Given the description of an element on the screen output the (x, y) to click on. 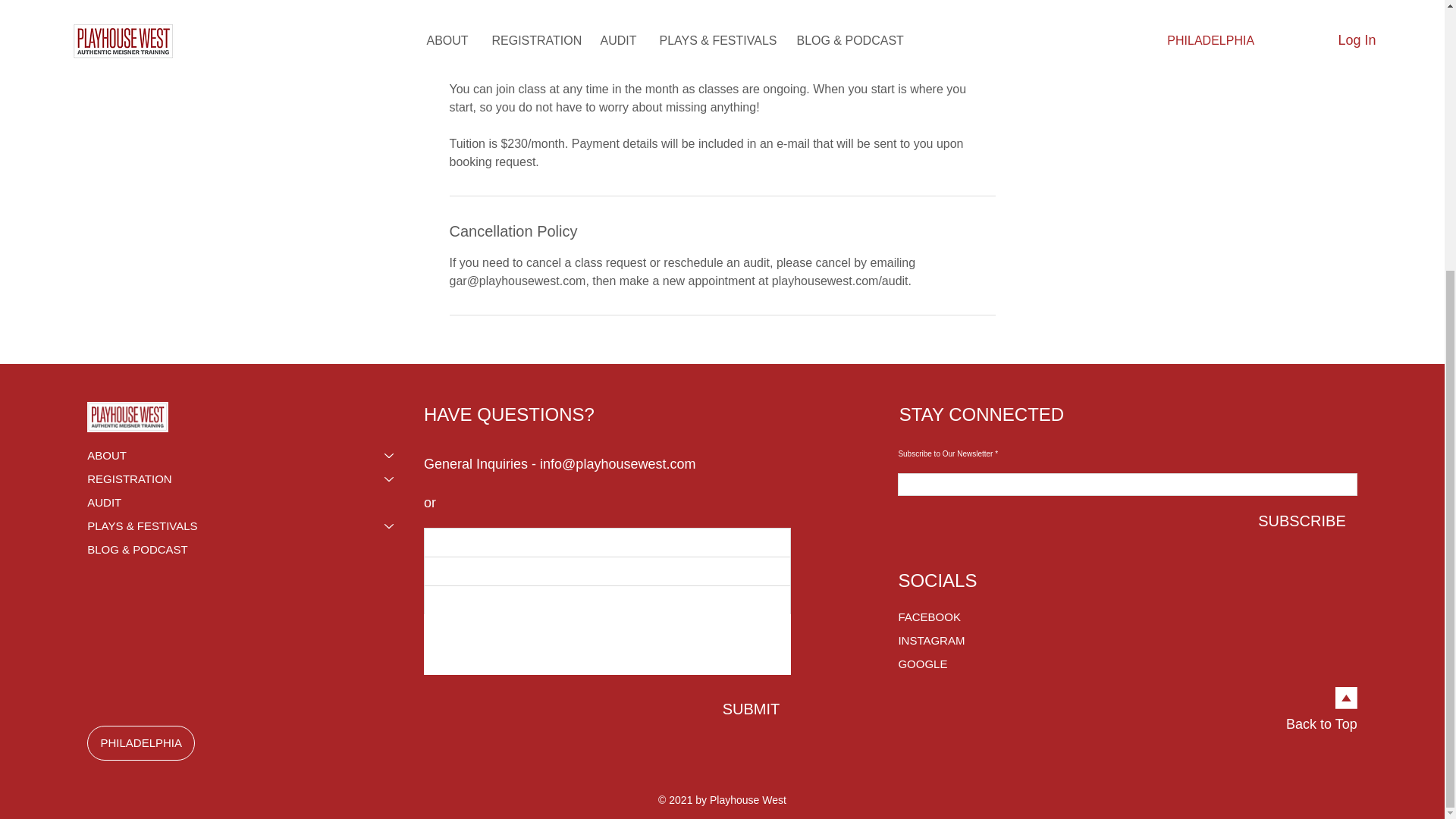
INSTAGRAM (951, 639)
SUBSCRIBE (1301, 520)
FACEBOOK (951, 616)
AUDIT (248, 502)
GOOGLE (951, 663)
SUBMIT (751, 709)
